Given the description of an element on the screen output the (x, y) to click on. 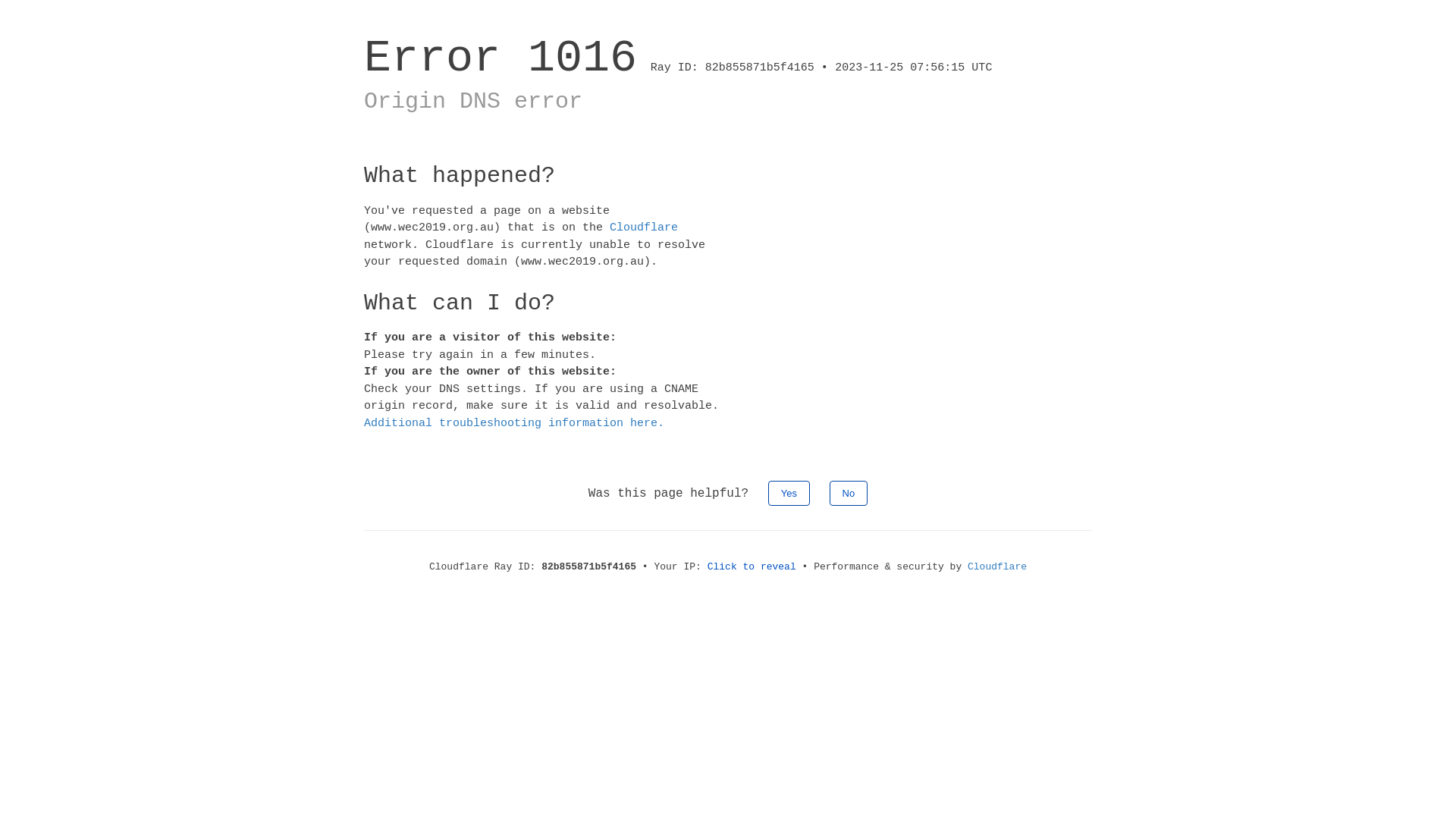
Cloudflare Element type: text (643, 227)
Yes Element type: text (788, 492)
Click to reveal Element type: text (751, 566)
Additional troubleshooting information here. Element type: text (514, 423)
No Element type: text (848, 492)
Cloudflare Element type: text (996, 566)
